Given the description of an element on the screen output the (x, y) to click on. 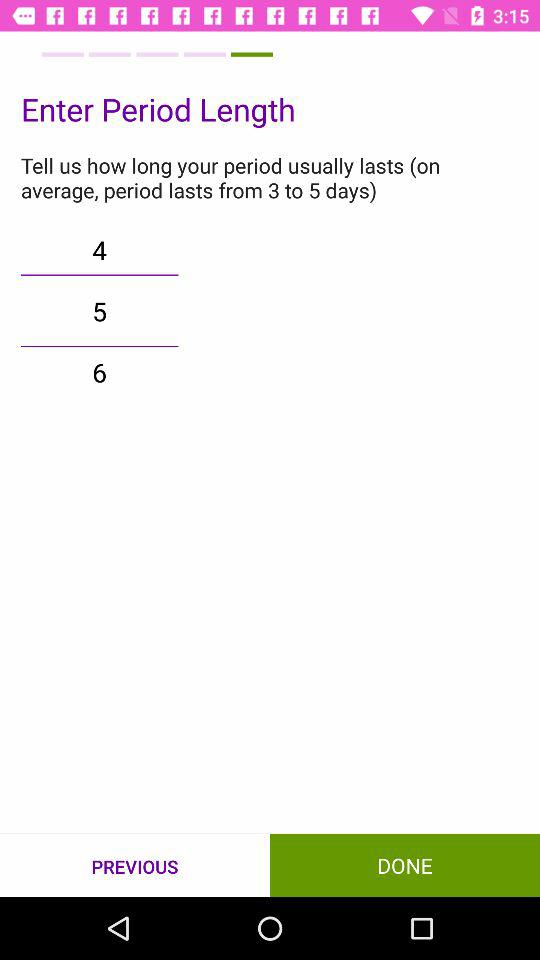
click the item at the bottom right corner (405, 864)
